Given the description of an element on the screen output the (x, y) to click on. 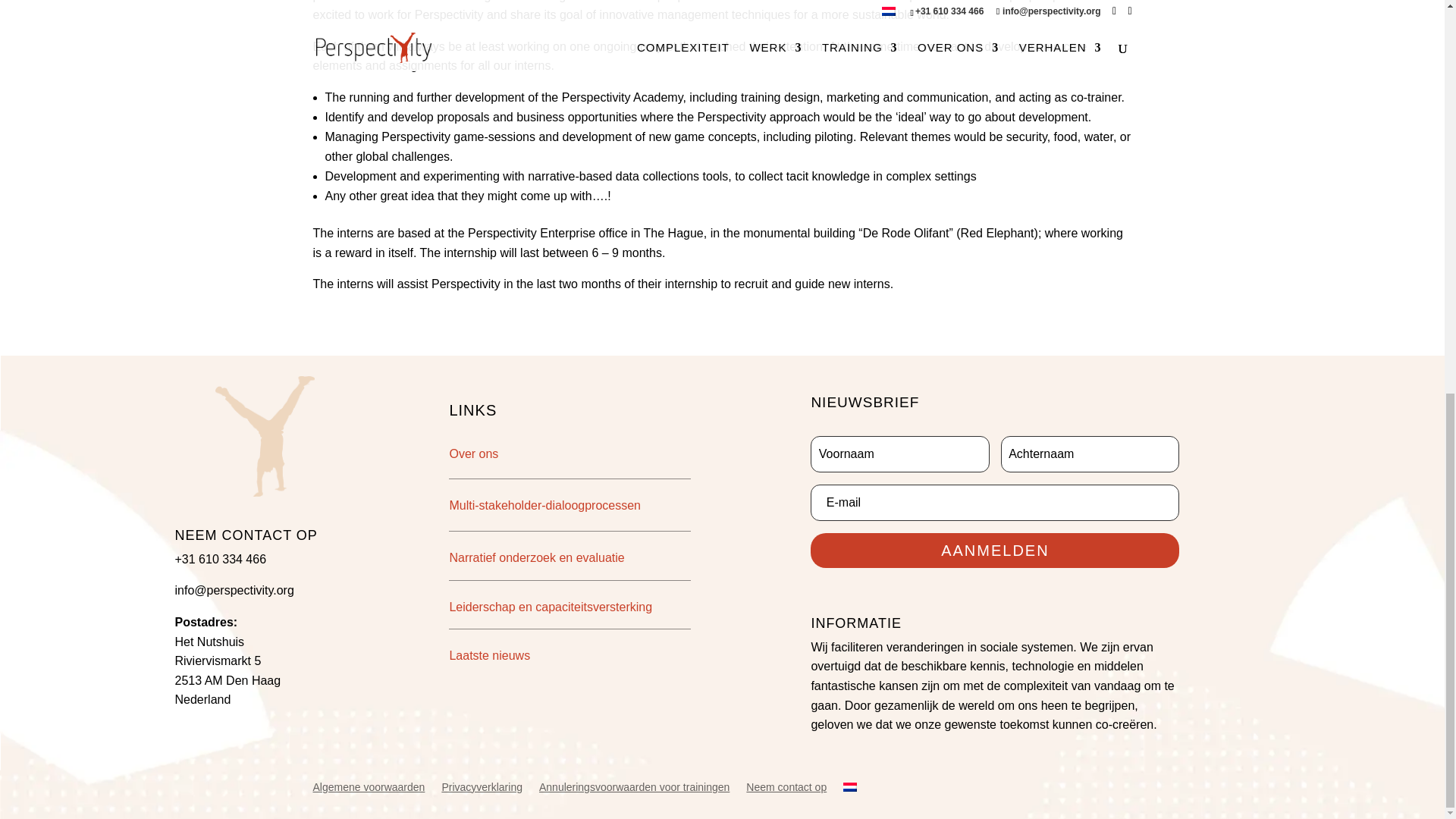
Multi-stakeholder-dialoogprocessen (544, 504)
Over ons (472, 453)
